Given the description of an element on the screen output the (x, y) to click on. 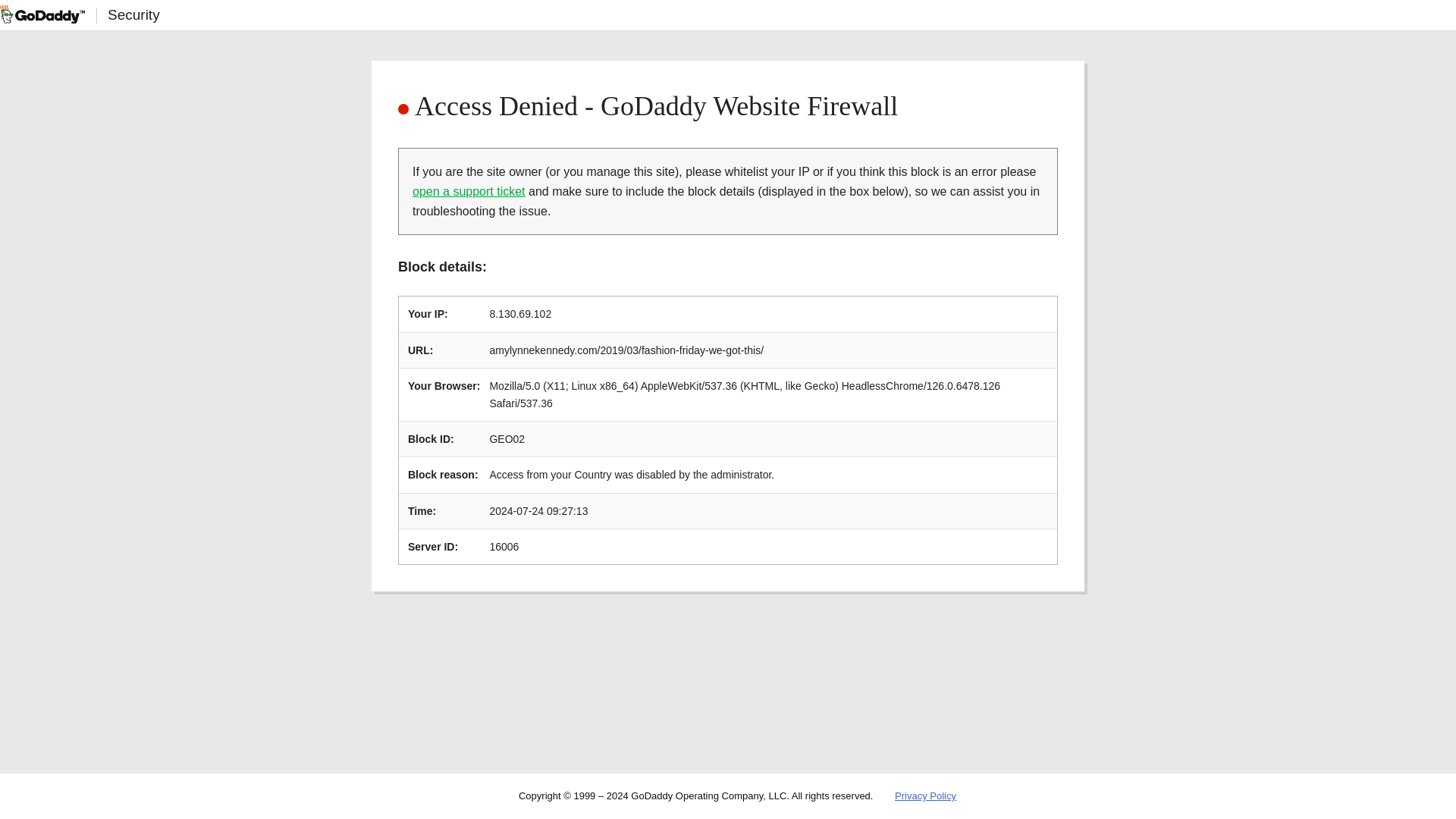
Privacy Policy (925, 795)
open a support ticket (468, 191)
